Given the description of an element on the screen output the (x, y) to click on. 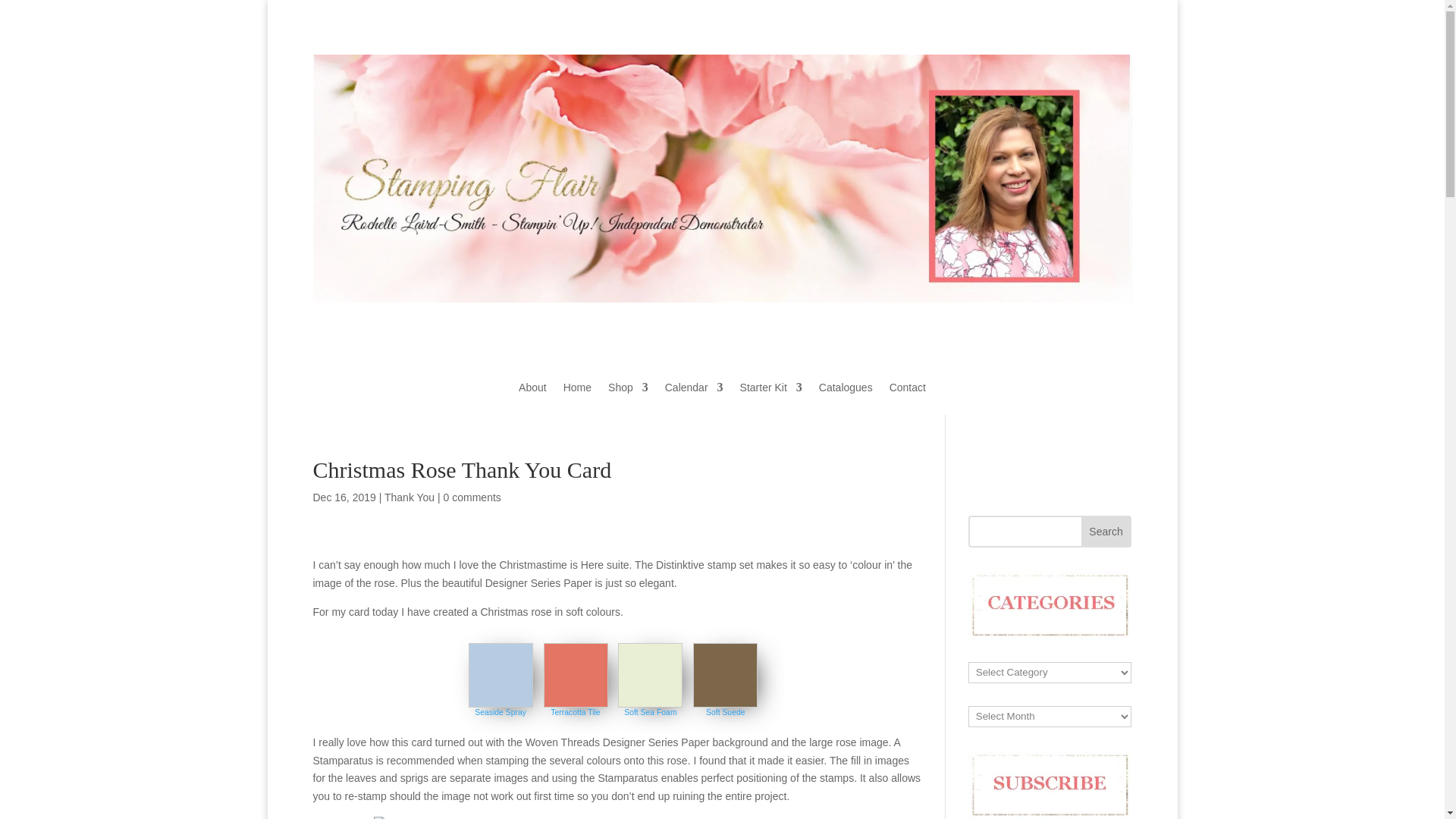
0 comments (472, 497)
Soft Suede (725, 712)
Terracotta Tile (574, 712)
Seaside Spray (499, 712)
Terracotta Tile (574, 712)
Soft Sea Foam (650, 712)
Calendar (694, 398)
Starter Kit (770, 398)
Thank You (408, 497)
Soft Sea Foam (650, 712)
